Given the description of an element on the screen output the (x, y) to click on. 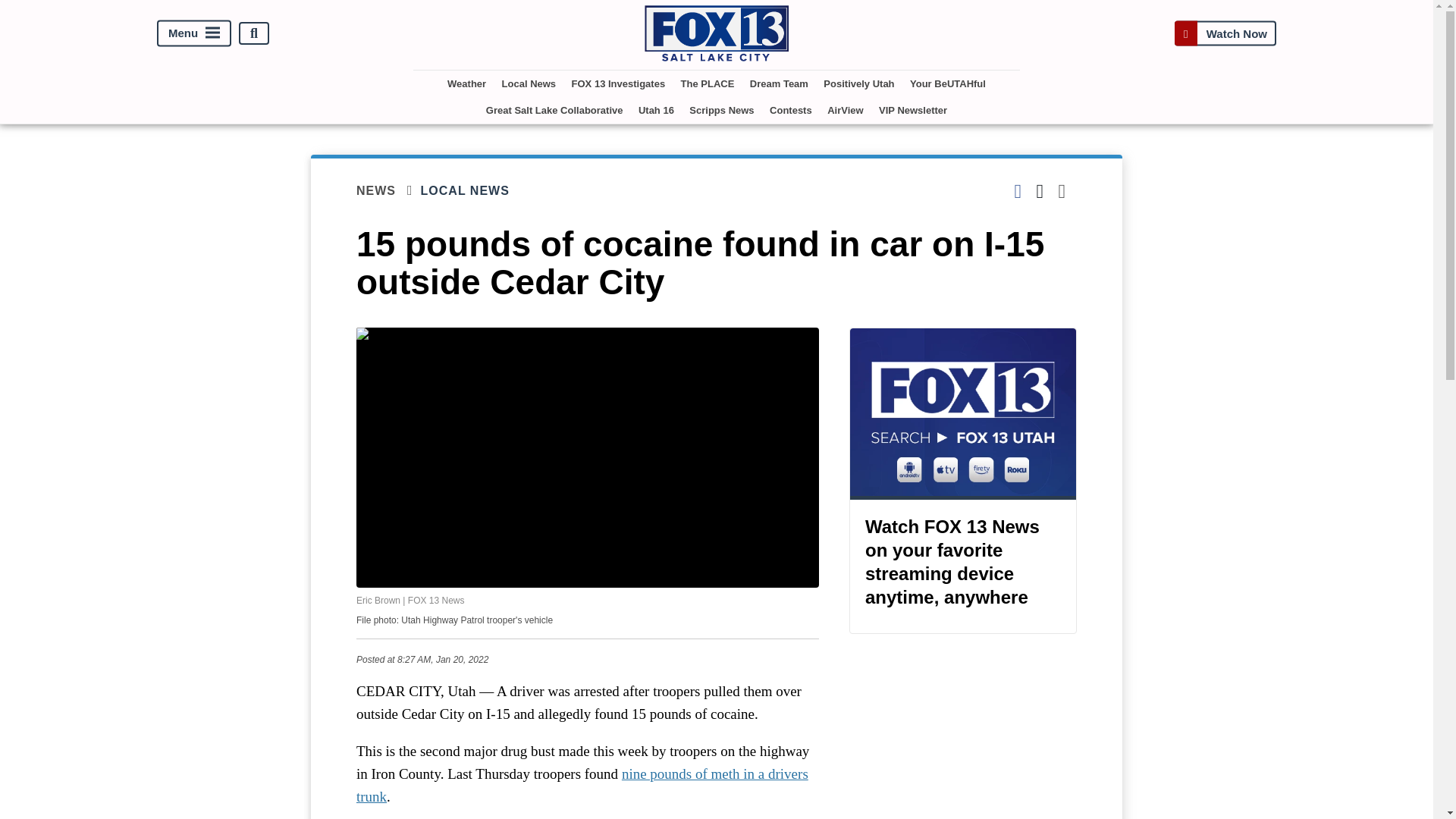
Menu (194, 33)
Watch Now (1224, 33)
